Given the description of an element on the screen output the (x, y) to click on. 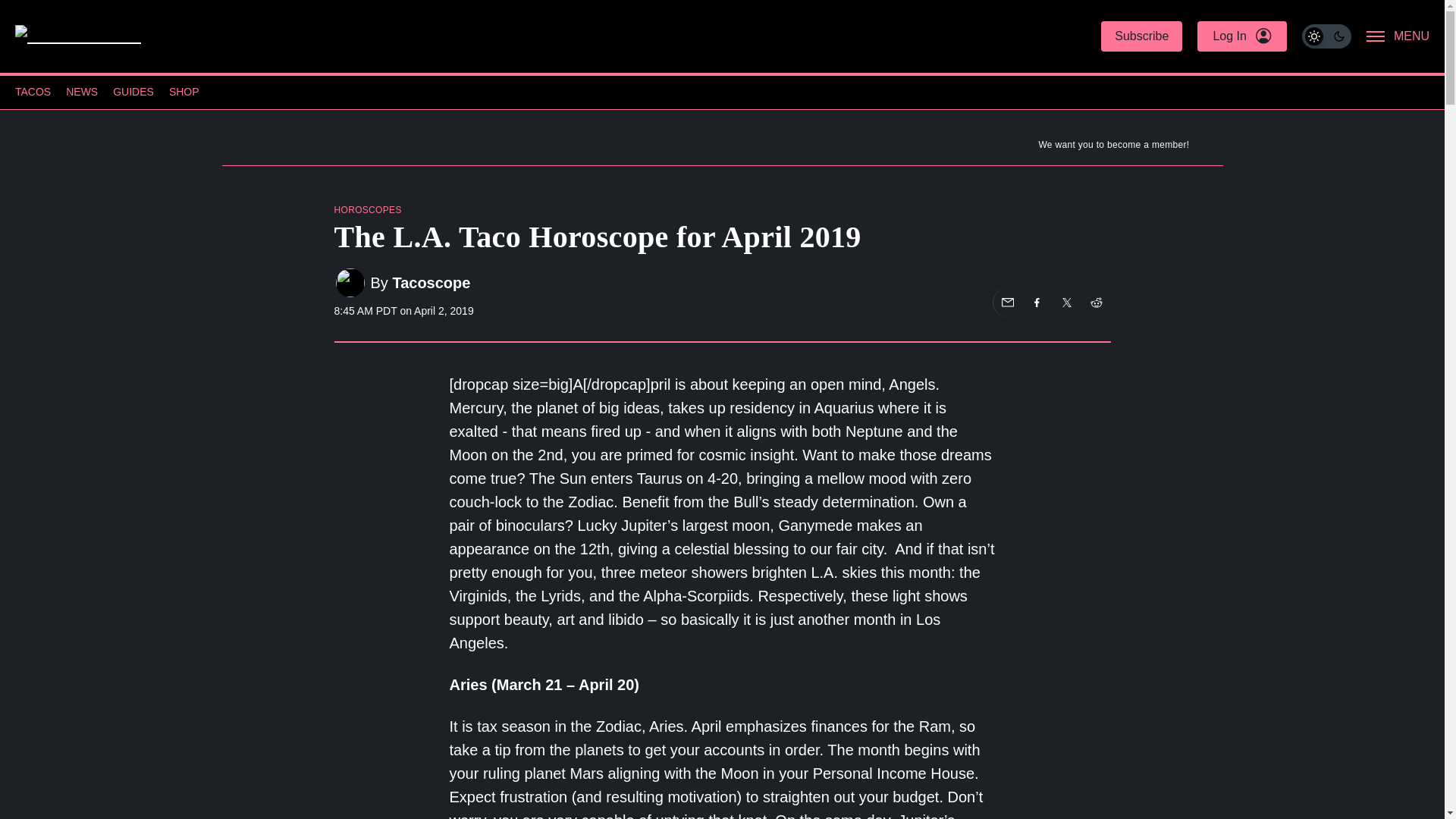
TACOS (32, 92)
GUIDES (133, 92)
SHOP (183, 92)
Share on Facebook (1036, 302)
Share on Email (1007, 302)
Subscribe (1141, 36)
Share on Reddit (1095, 302)
We want you to become a member! (721, 148)
Log In (1240, 36)
HOROSCOPES (367, 209)
NEWS (81, 92)
MENU (1398, 36)
Tacoscope (430, 282)
